Given the description of an element on the screen output the (x, y) to click on. 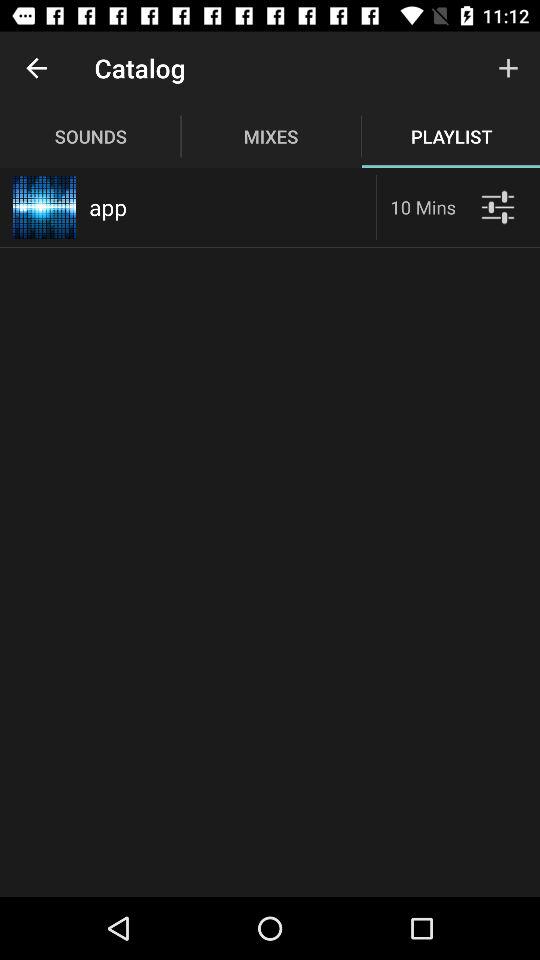
show noise options (498, 206)
